Given the description of an element on the screen output the (x, y) to click on. 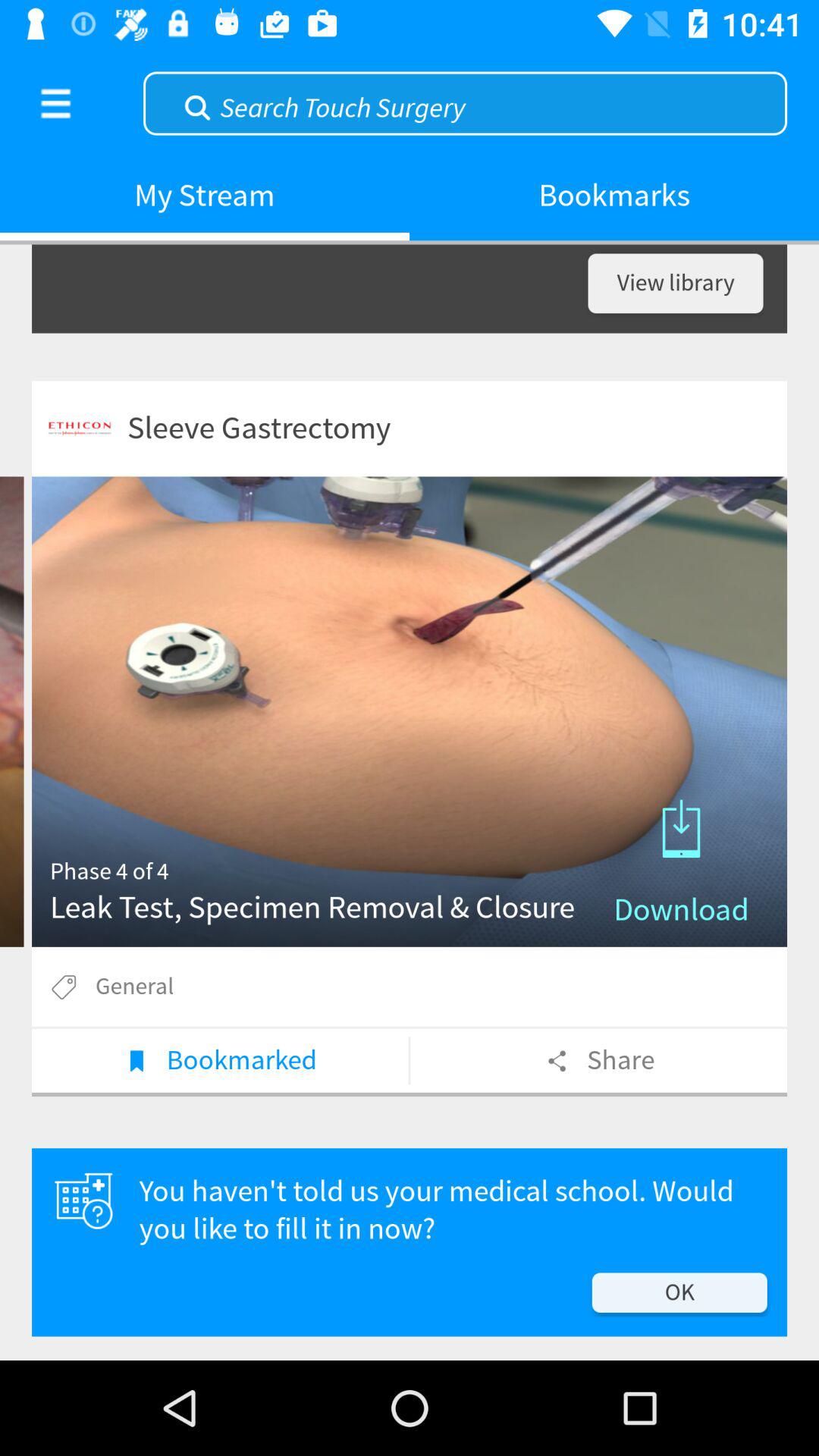
tap the icon below you haven t item (679, 1292)
